Given the description of an element on the screen output the (x, y) to click on. 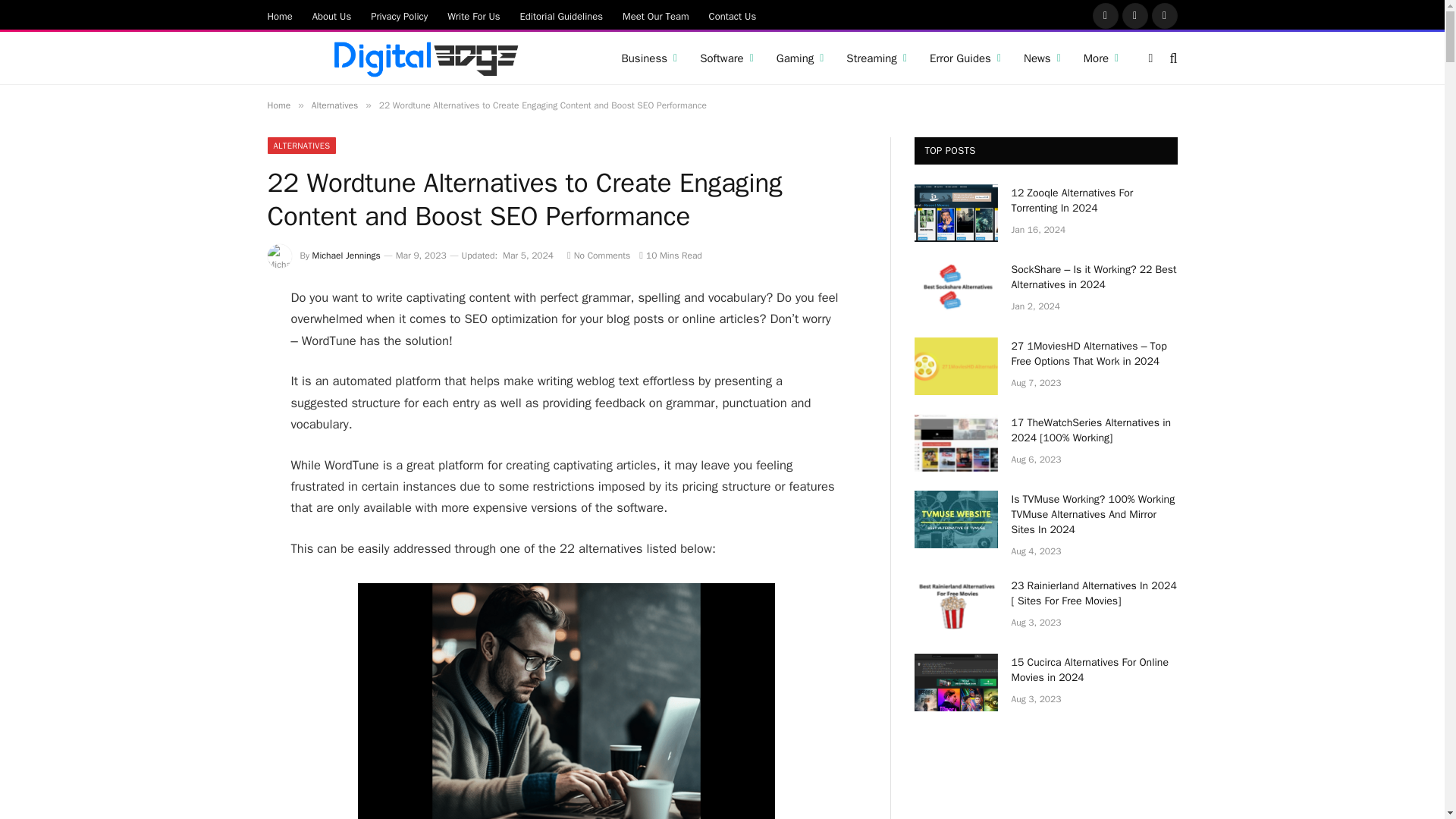
Switch to Dark Design - easier on eyes. (1150, 57)
Digital Edge (424, 58)
Posts by Michael Jennings (346, 255)
12 Zooqle Alternatives For Torrenting In 2024 (955, 212)
